Given the description of an element on the screen output the (x, y) to click on. 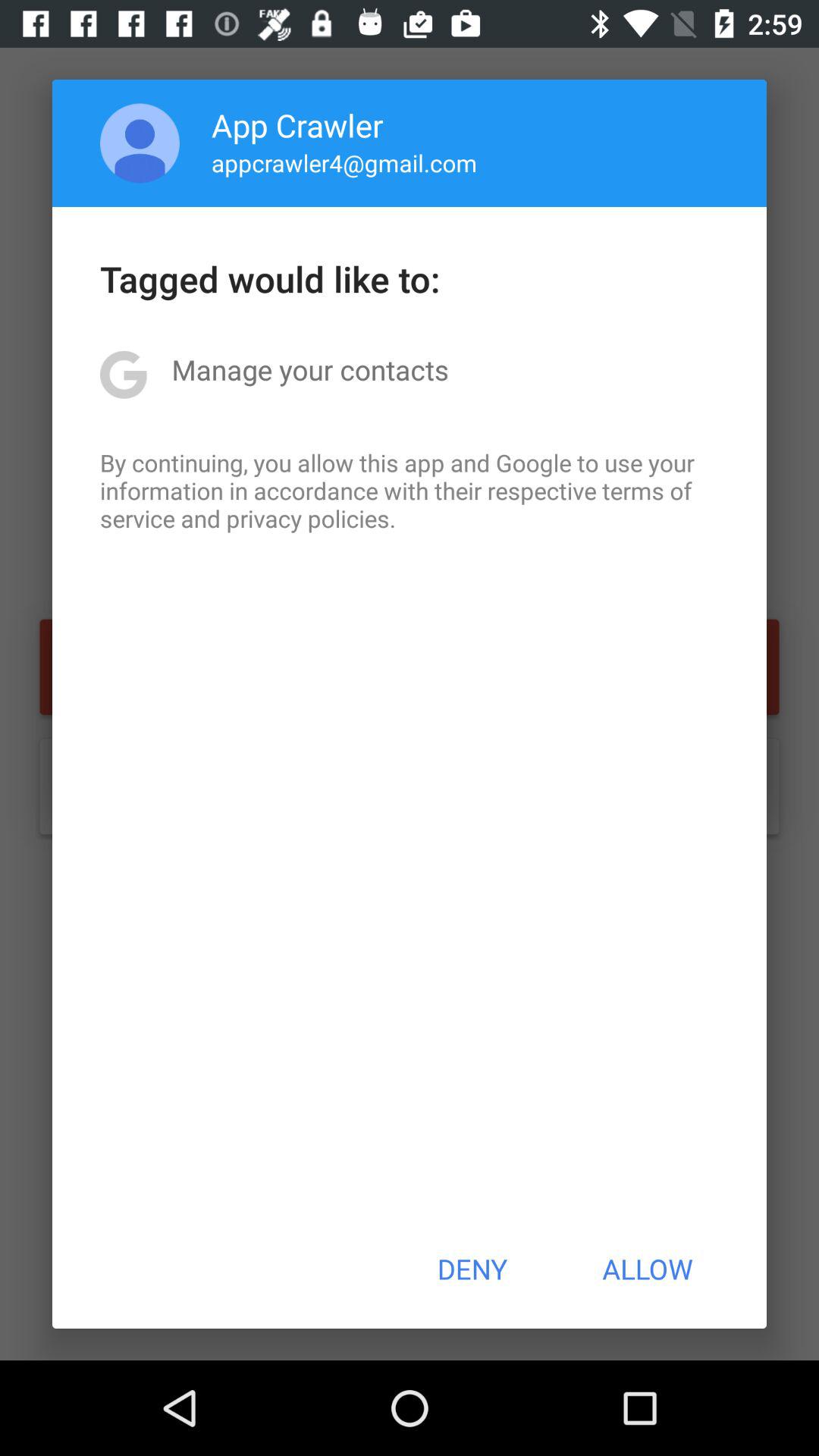
flip until the appcrawler4@gmail.com (344, 162)
